Given the description of an element on the screen output the (x, y) to click on. 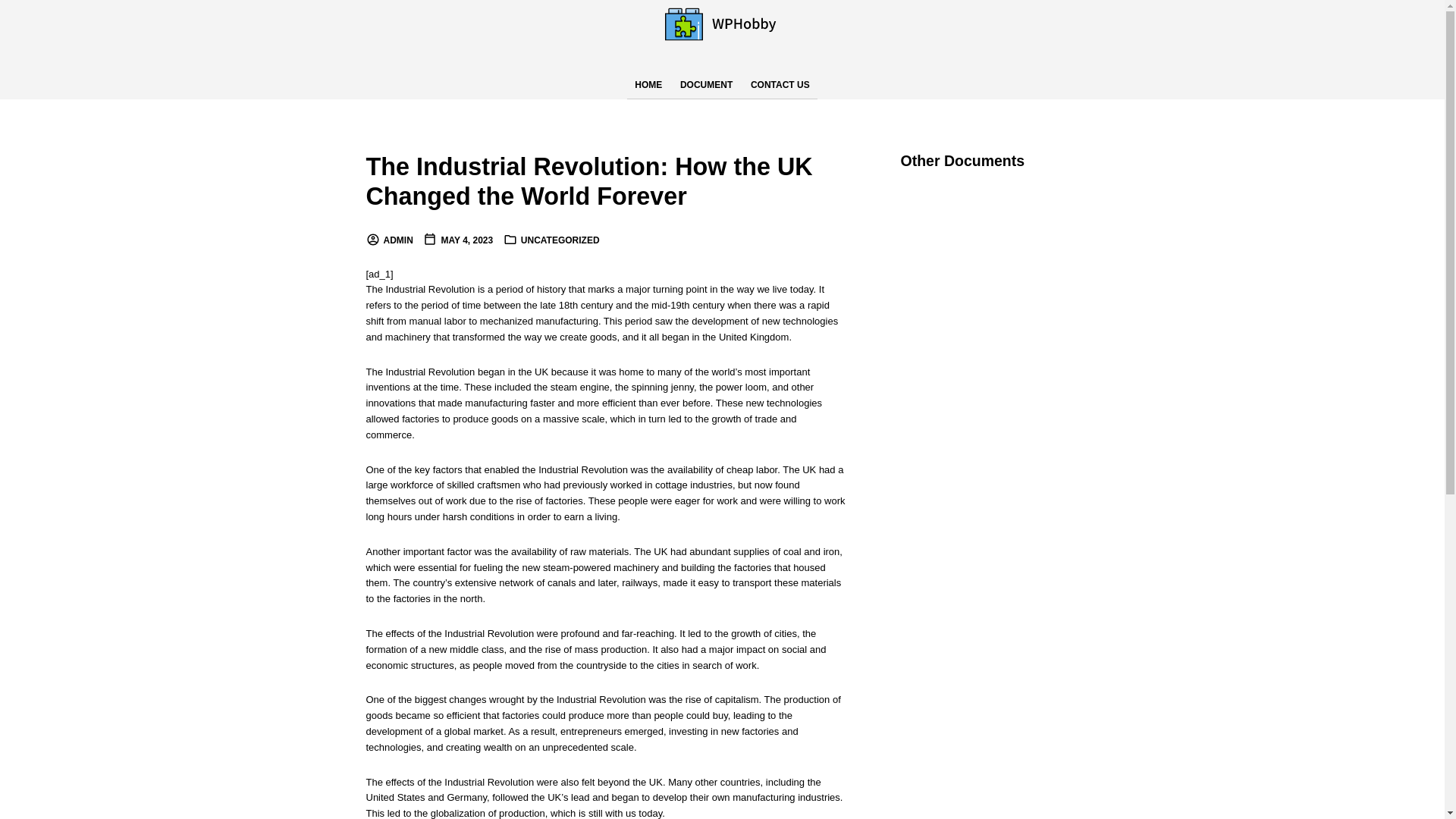
MAY 4, 2023 (458, 240)
UNCATEGORIZED (560, 240)
11:48 am (458, 240)
View all posts by admin (388, 240)
ADMIN (388, 240)
HOME (648, 85)
CONTACT US (779, 85)
DOCUMENT (705, 85)
